Given the description of an element on the screen output the (x, y) to click on. 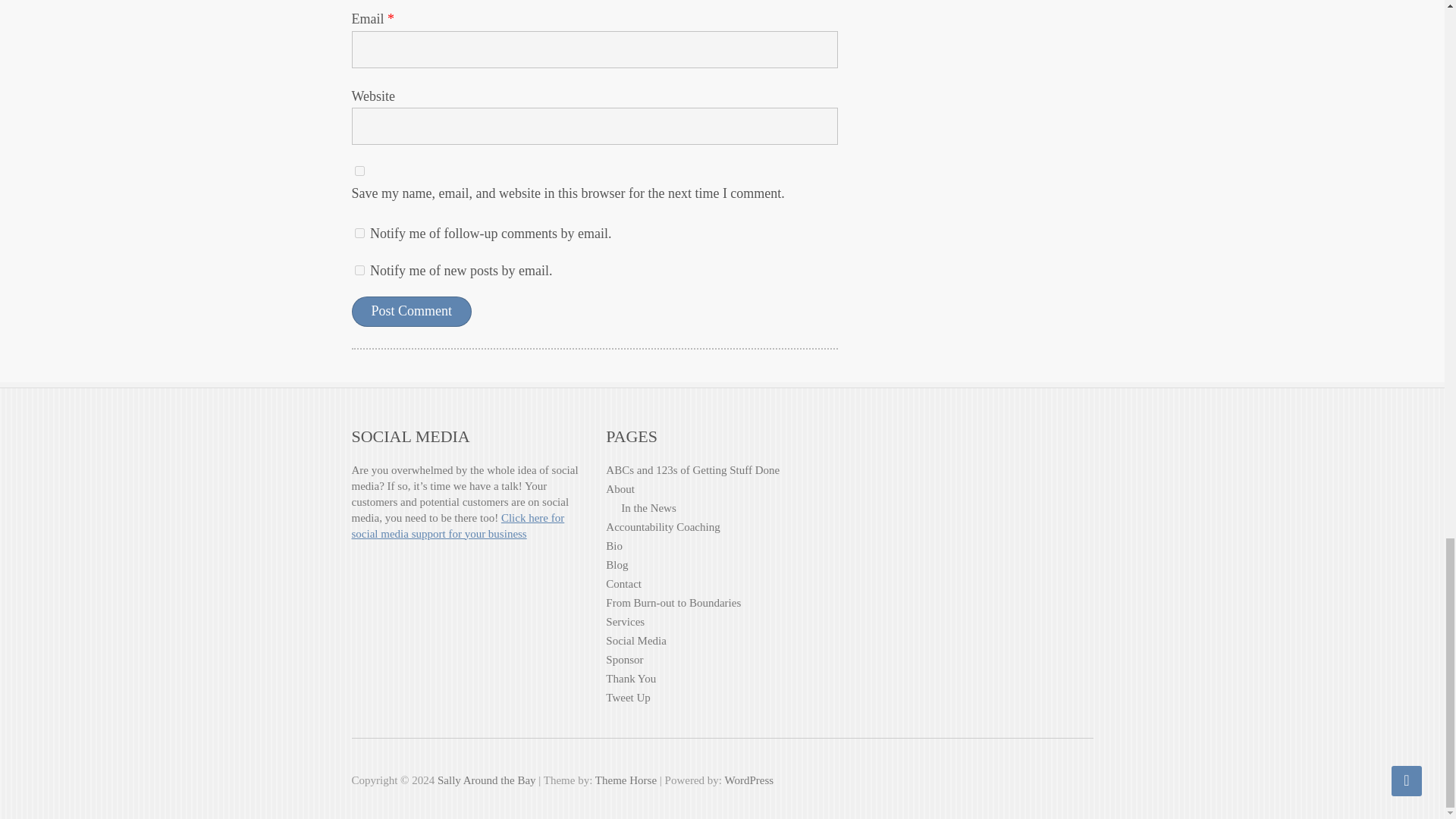
Theme Horse (625, 779)
subscribe (360, 270)
Post Comment (411, 311)
subscribe (360, 233)
Post Comment (411, 311)
Sally Around the Bay (486, 779)
WordPress (748, 779)
yes (360, 171)
